Given the description of an element on the screen output the (x, y) to click on. 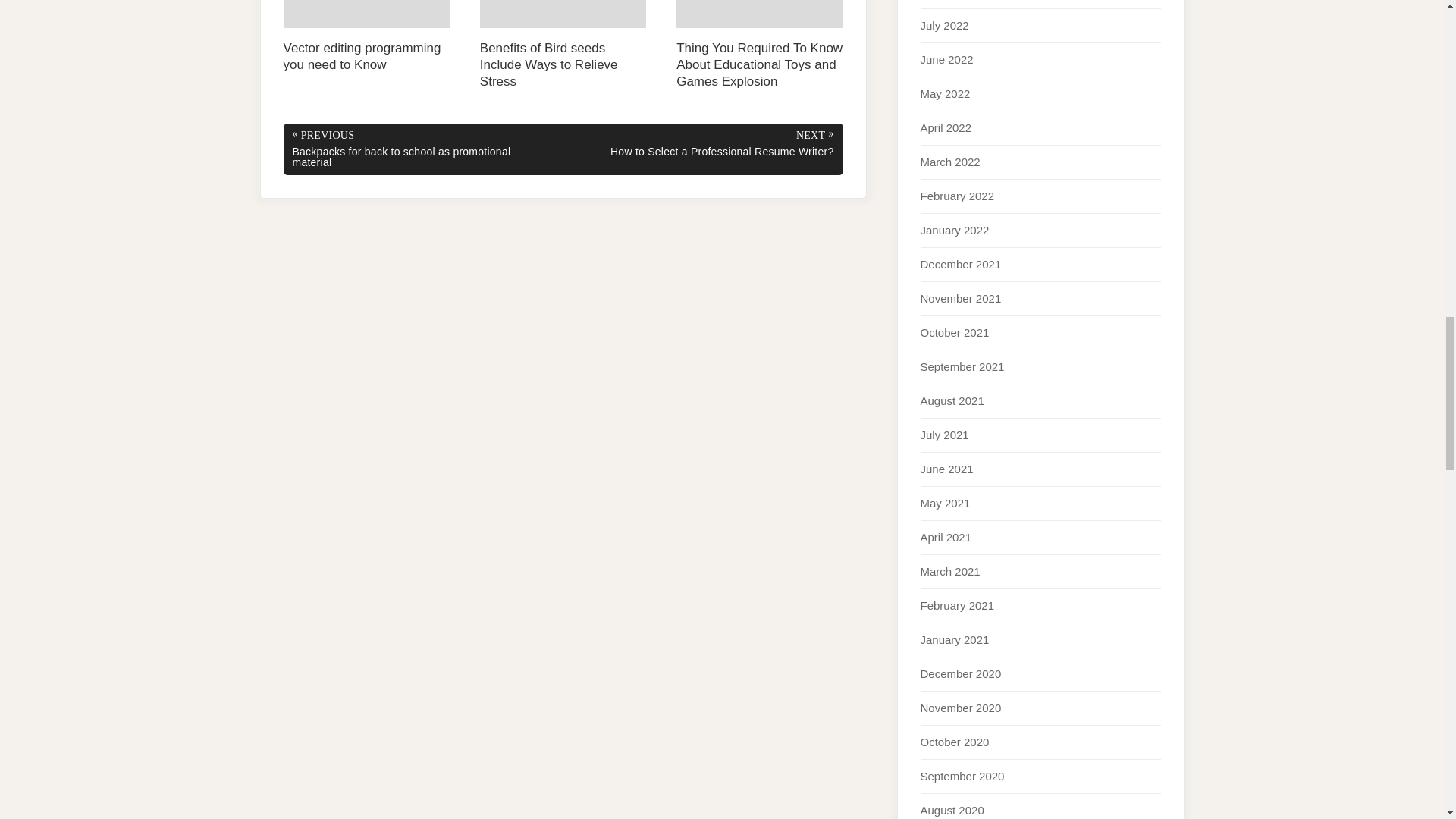
Vector editing programming you need to Know (366, 36)
Benefits of Bird seeds Include Ways to Relieve Stress (563, 45)
Vector editing programming you need to Know (366, 36)
Benefits of Bird seeds Include Ways to Relieve Stress (563, 45)
